Given the description of an element on the screen output the (x, y) to click on. 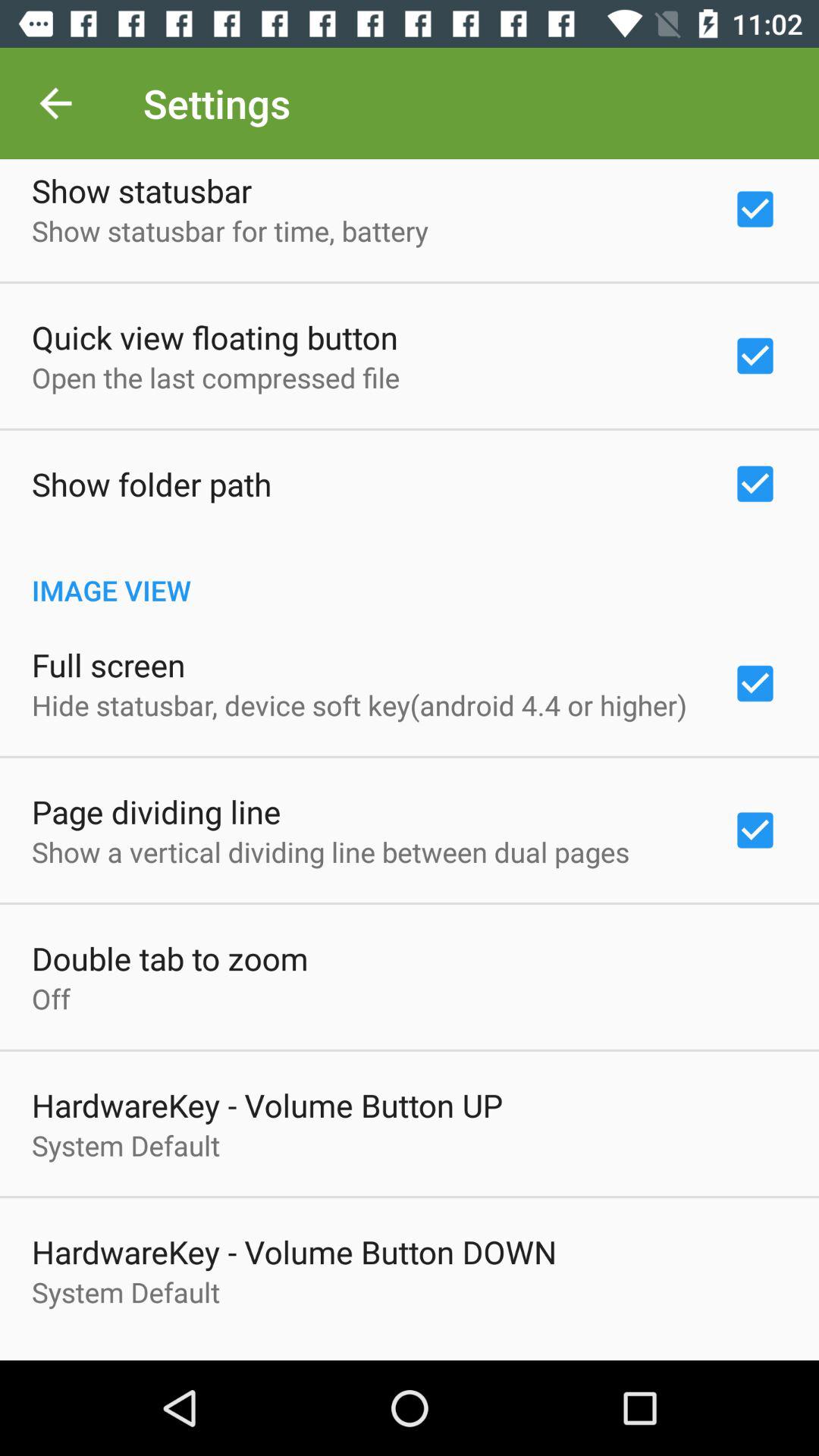
flip until the full screen icon (108, 664)
